Given the description of an element on the screen output the (x, y) to click on. 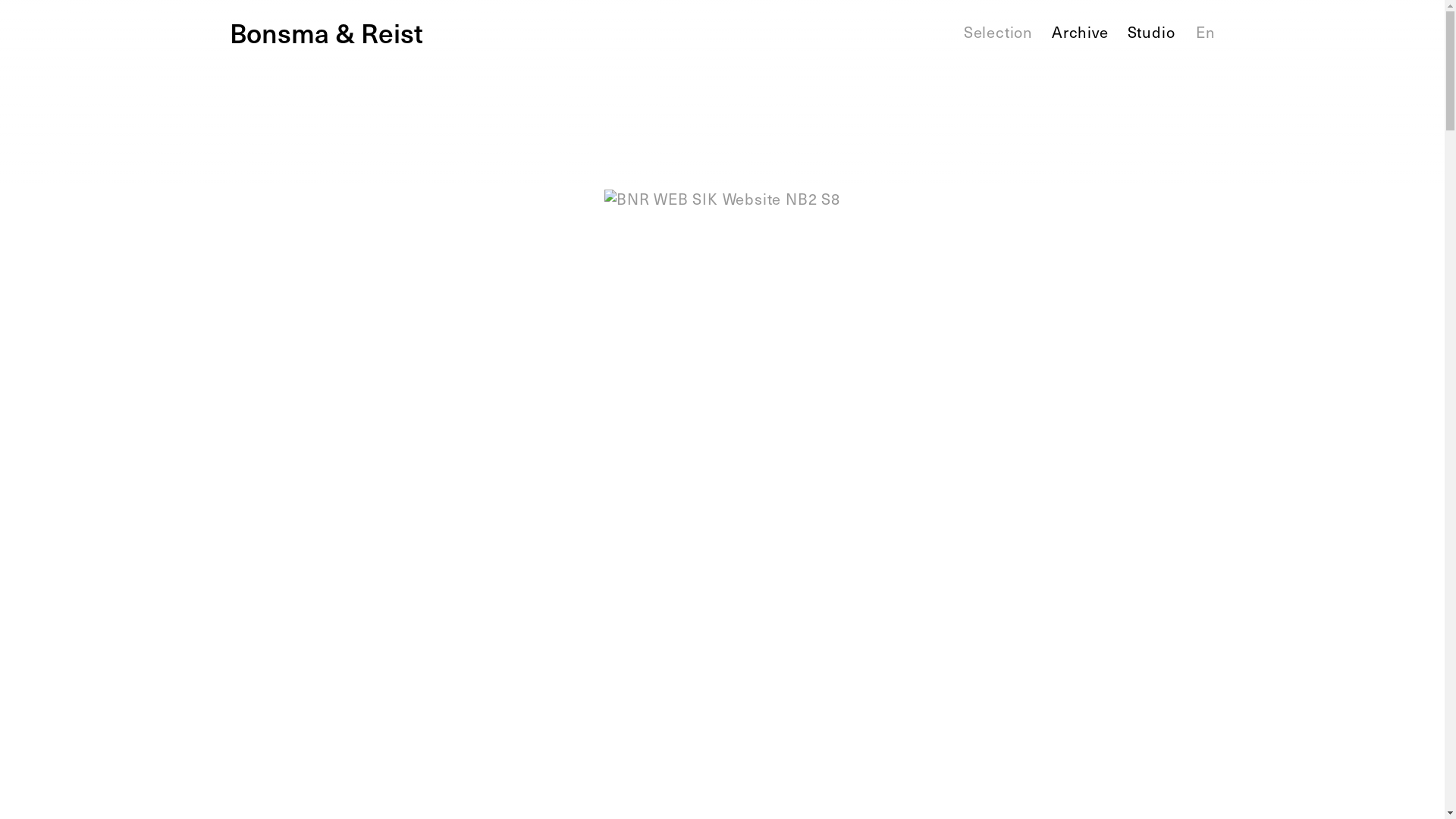
En Element type: text (1205, 31)
Archive Element type: text (1079, 31)
Studio Element type: text (1151, 31)
Bonsma & Reist Element type: text (391, 31)
Selection Element type: text (997, 31)
